Given the description of an element on the screen output the (x, y) to click on. 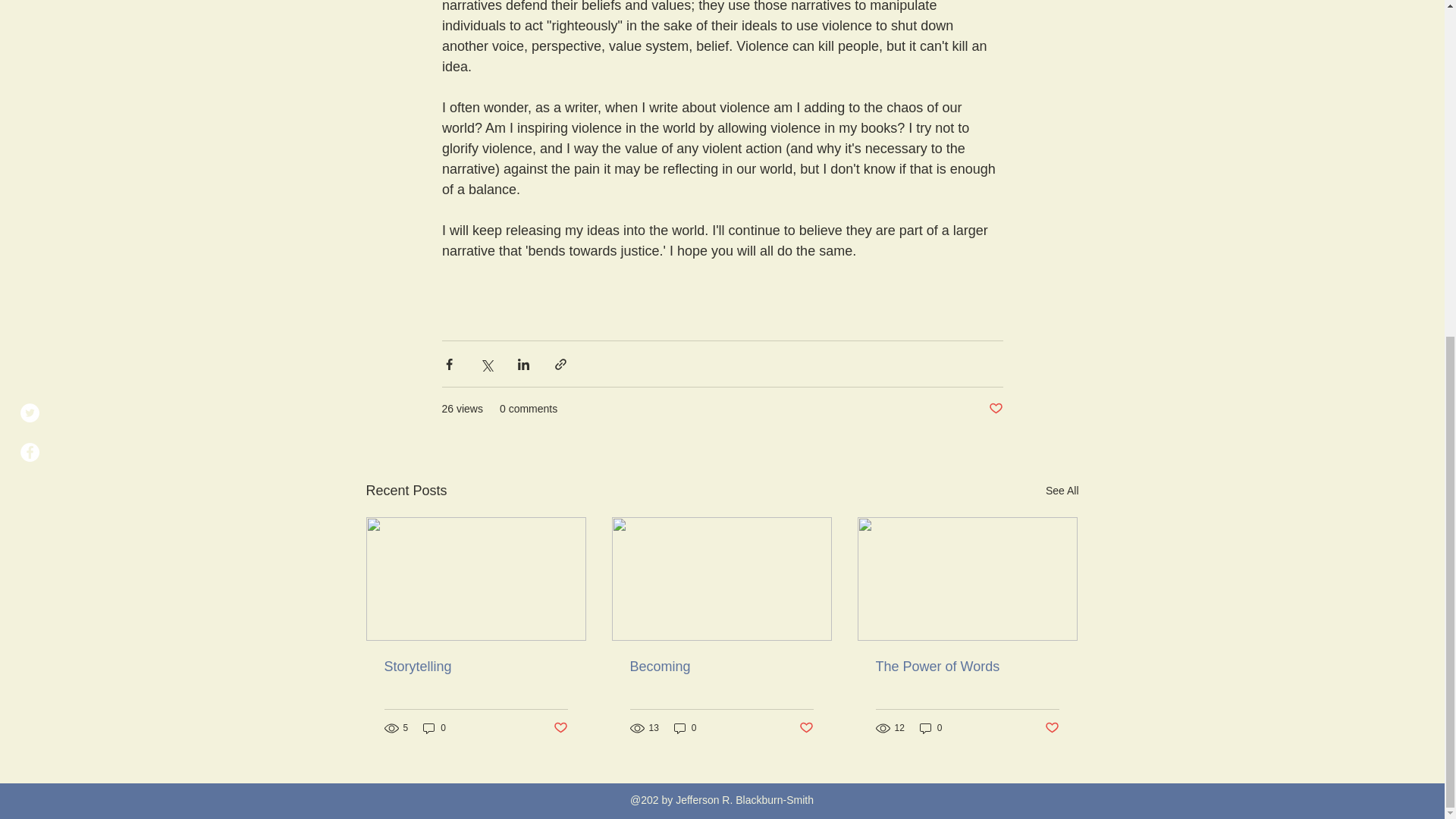
Post not marked as liked (1052, 728)
The Power of Words (966, 666)
0 (685, 728)
Post not marked as liked (560, 728)
0 (434, 728)
Post not marked as liked (995, 408)
0 (930, 728)
Post not marked as liked (806, 728)
Storytelling (475, 666)
Becoming (720, 666)
